Given the description of an element on the screen output the (x, y) to click on. 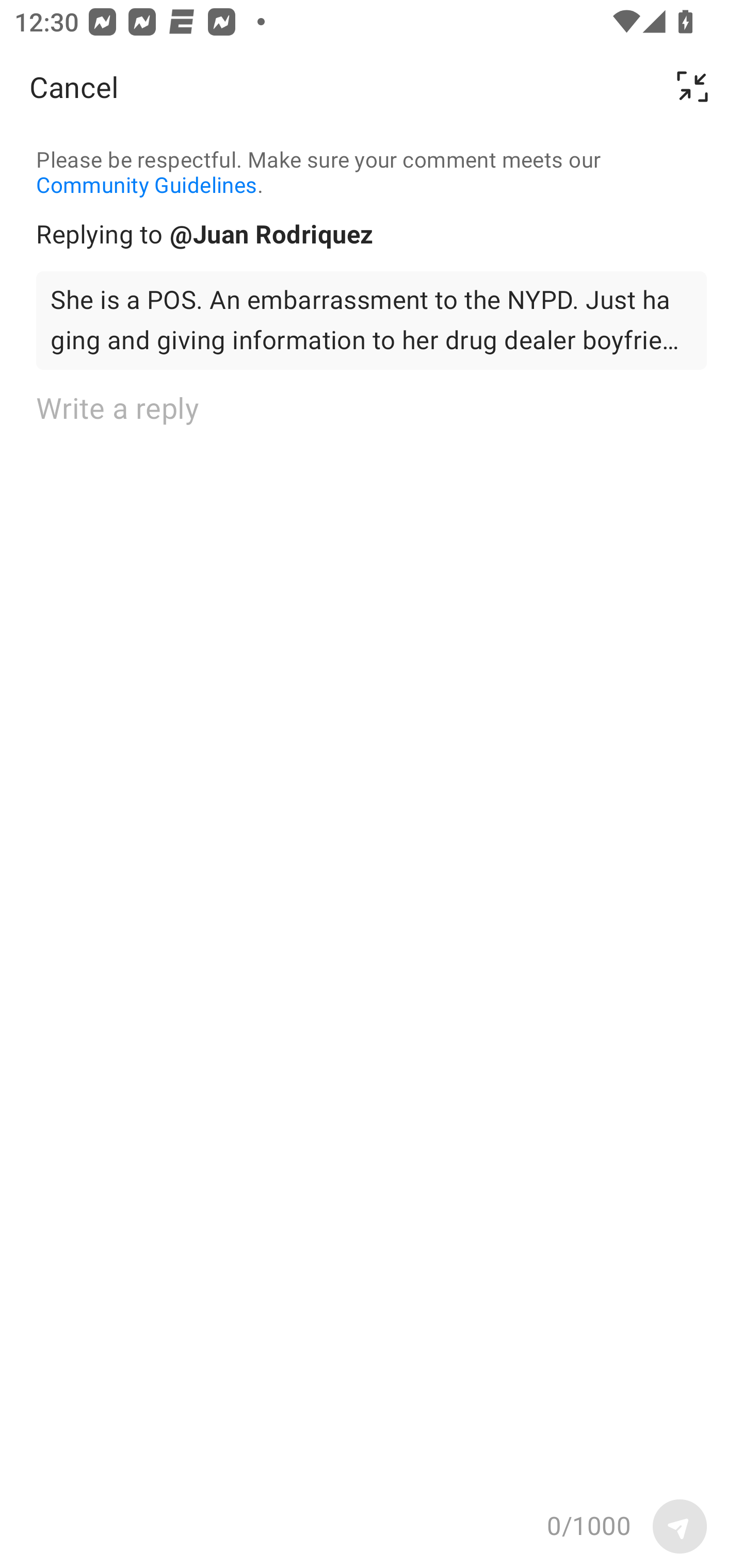
Cancel (73, 86)
Write a reply (371, 935)
